Given the description of an element on the screen output the (x, y) to click on. 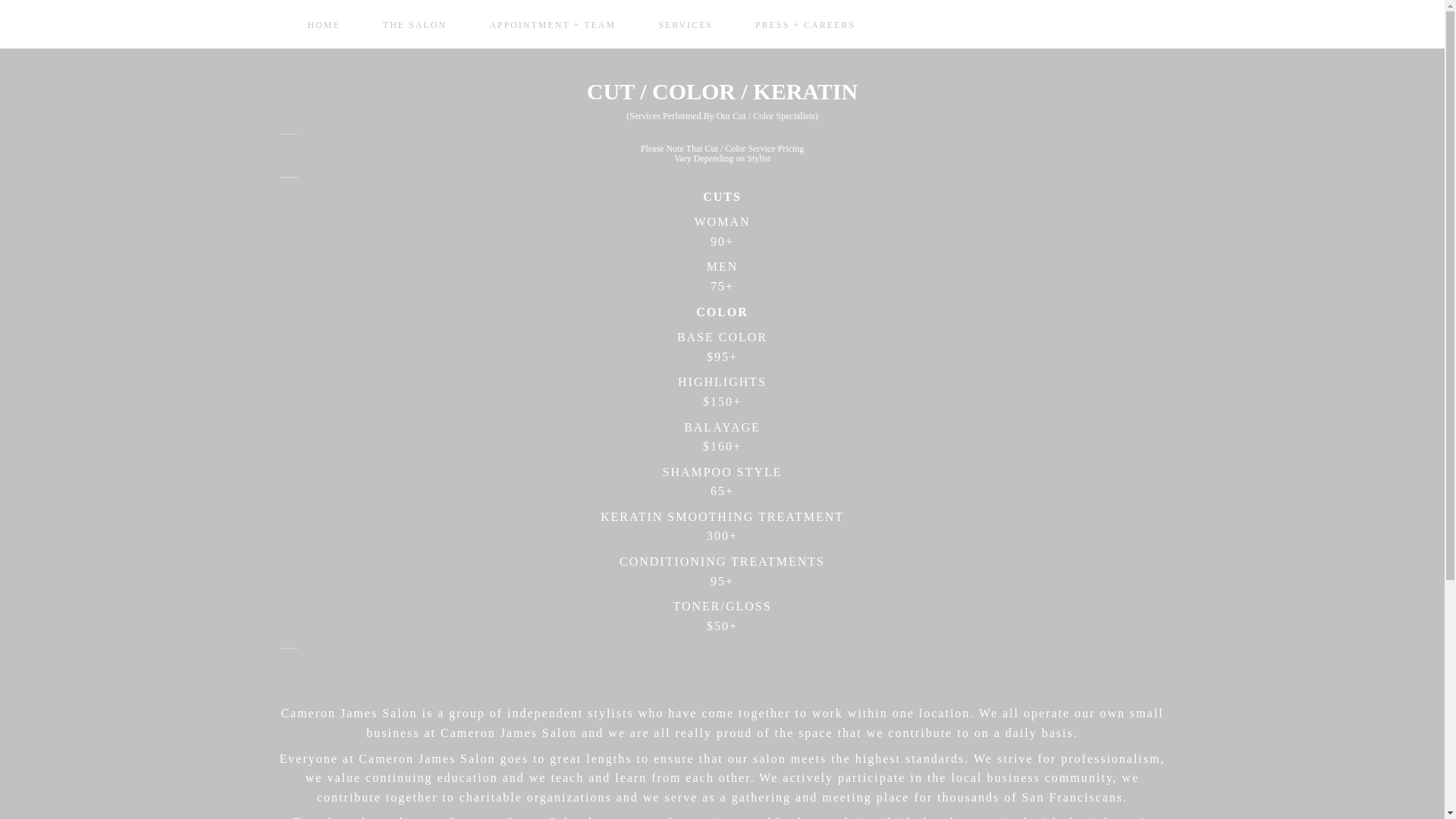
THE SALON (414, 24)
HOME (323, 24)
SERVICES (685, 24)
